Given the description of an element on the screen output the (x, y) to click on. 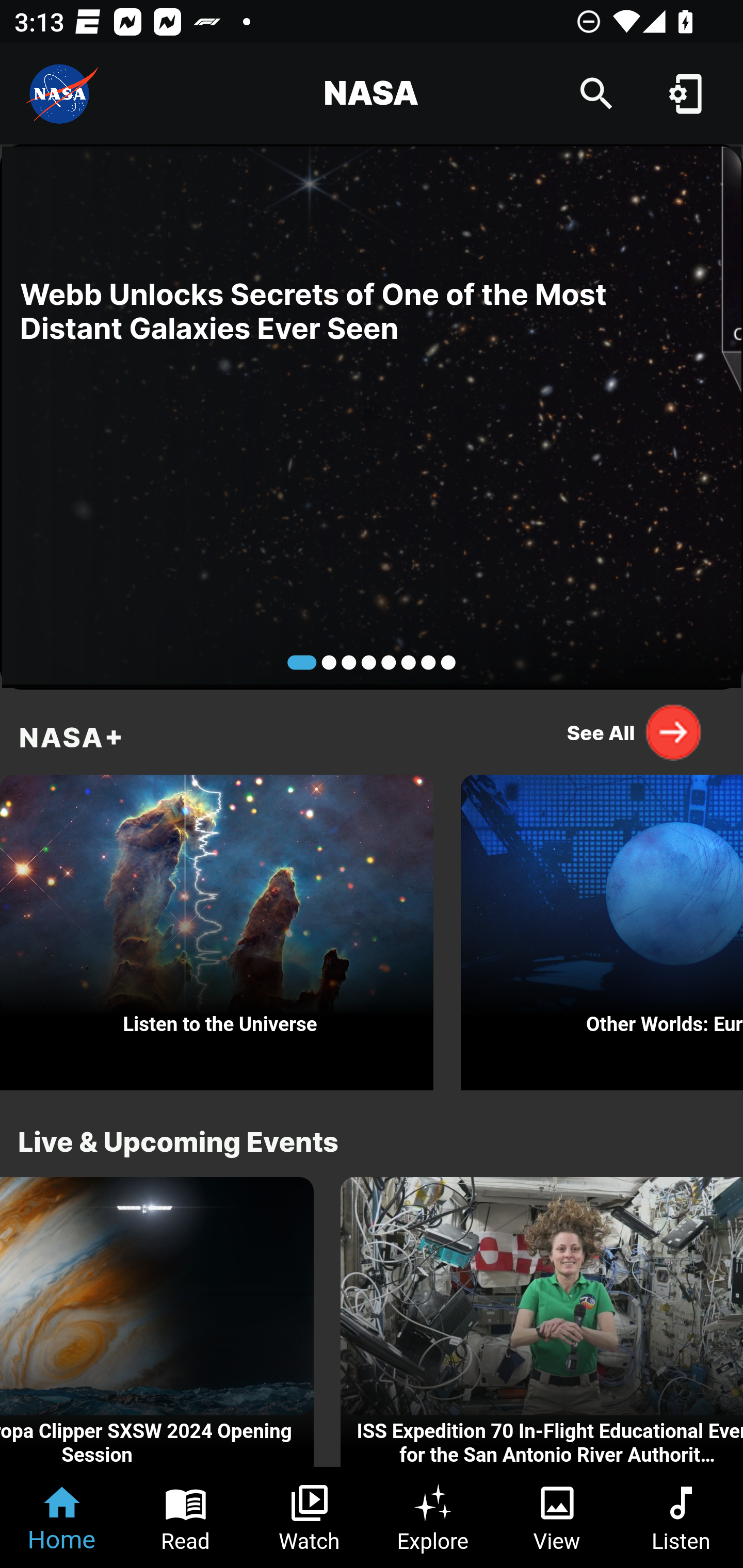
See All (634, 732)
Listen to the Universe (216, 927)
Other Worlds: Europa (601, 927)
NASA's Europa Clipper SXSW 2024 Opening Session (156, 1322)
Home
Tab 1 of 6 (62, 1517)
Read
Tab 2 of 6 (185, 1517)
Watch
Tab 3 of 6 (309, 1517)
Explore
Tab 4 of 6 (433, 1517)
View
Tab 5 of 6 (556, 1517)
Listen
Tab 6 of 6 (680, 1517)
